Given the description of an element on the screen output the (x, y) to click on. 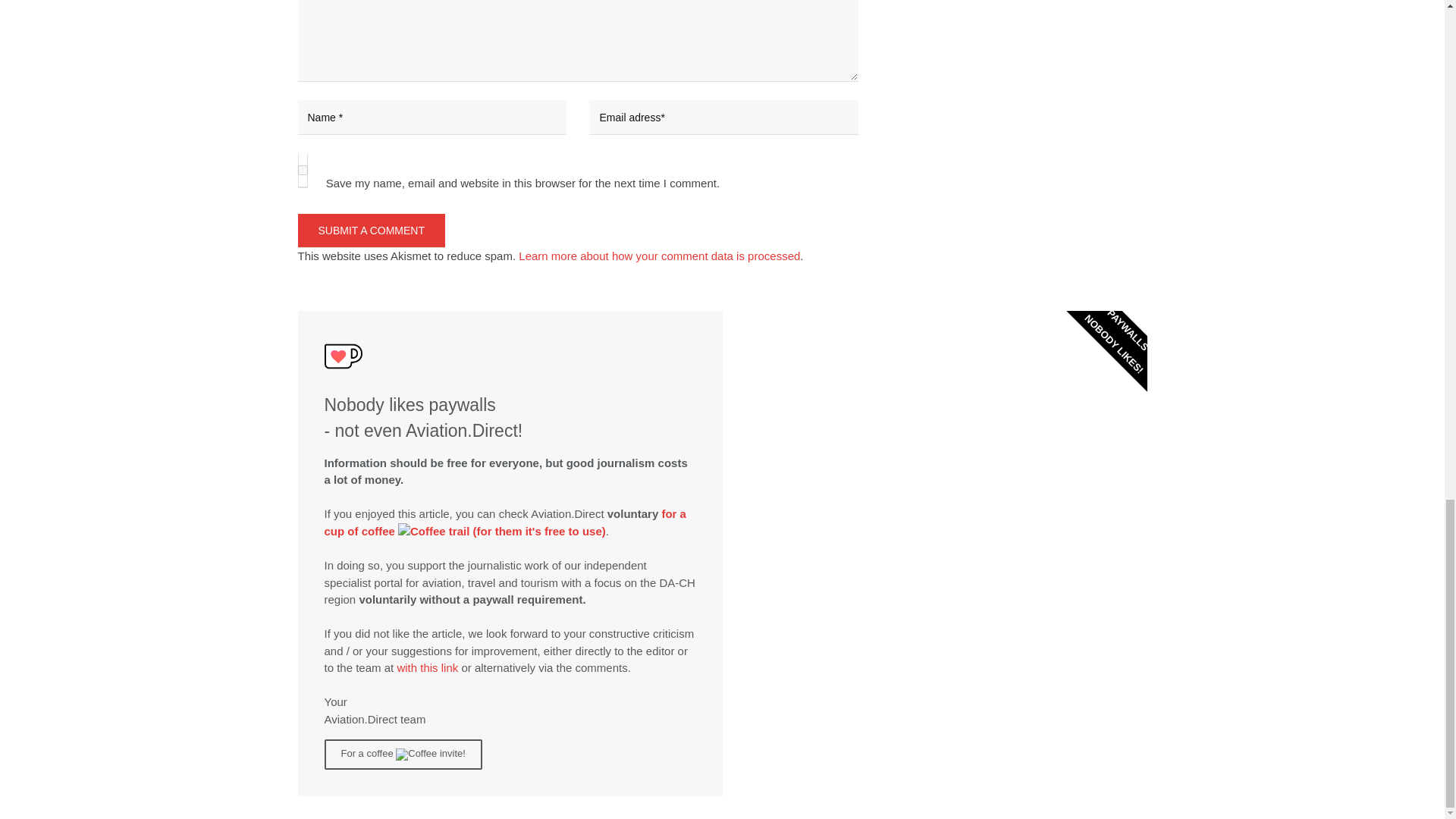
Coffee (416, 754)
Submit a comment (371, 230)
Coffee (421, 531)
